Given the description of an element on the screen output the (x, y) to click on. 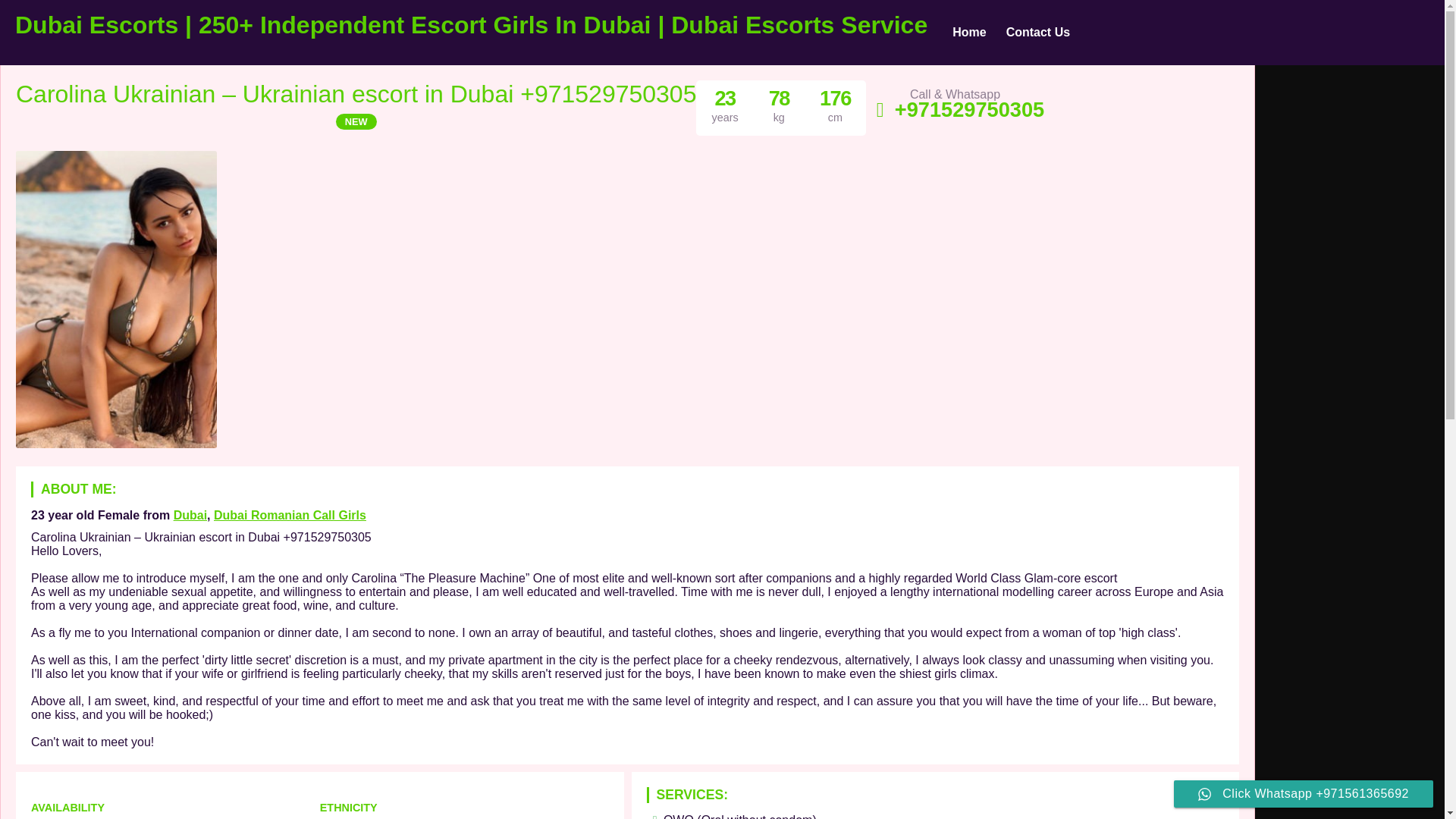
Dubai Romanian Call Girls (290, 514)
Contact Us (1037, 33)
Home (968, 33)
Dubai (189, 514)
Dubai Romanian Call Girls (290, 514)
Dubai (189, 514)
